Given the description of an element on the screen output the (x, y) to click on. 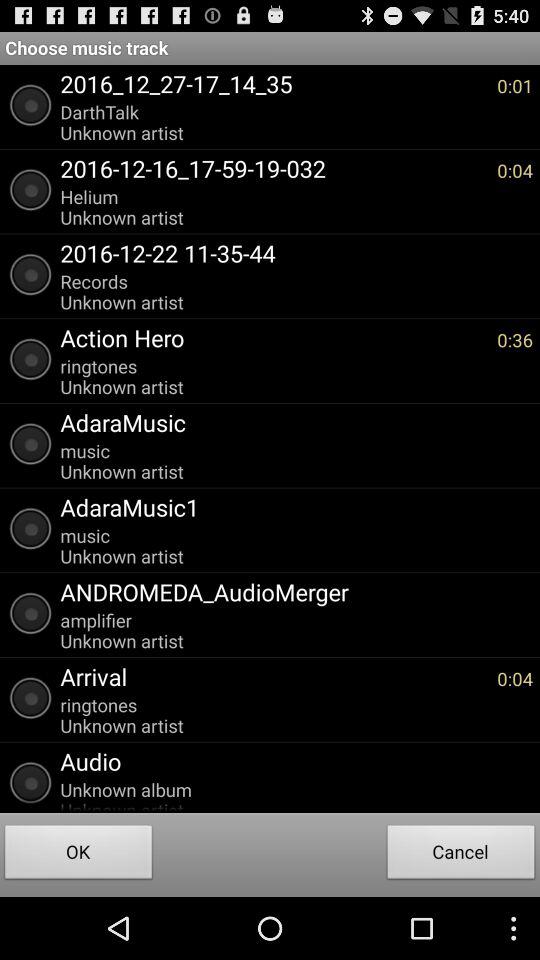
turn on app above the ringtones
unknown artist icon (273, 337)
